Given the description of an element on the screen output the (x, y) to click on. 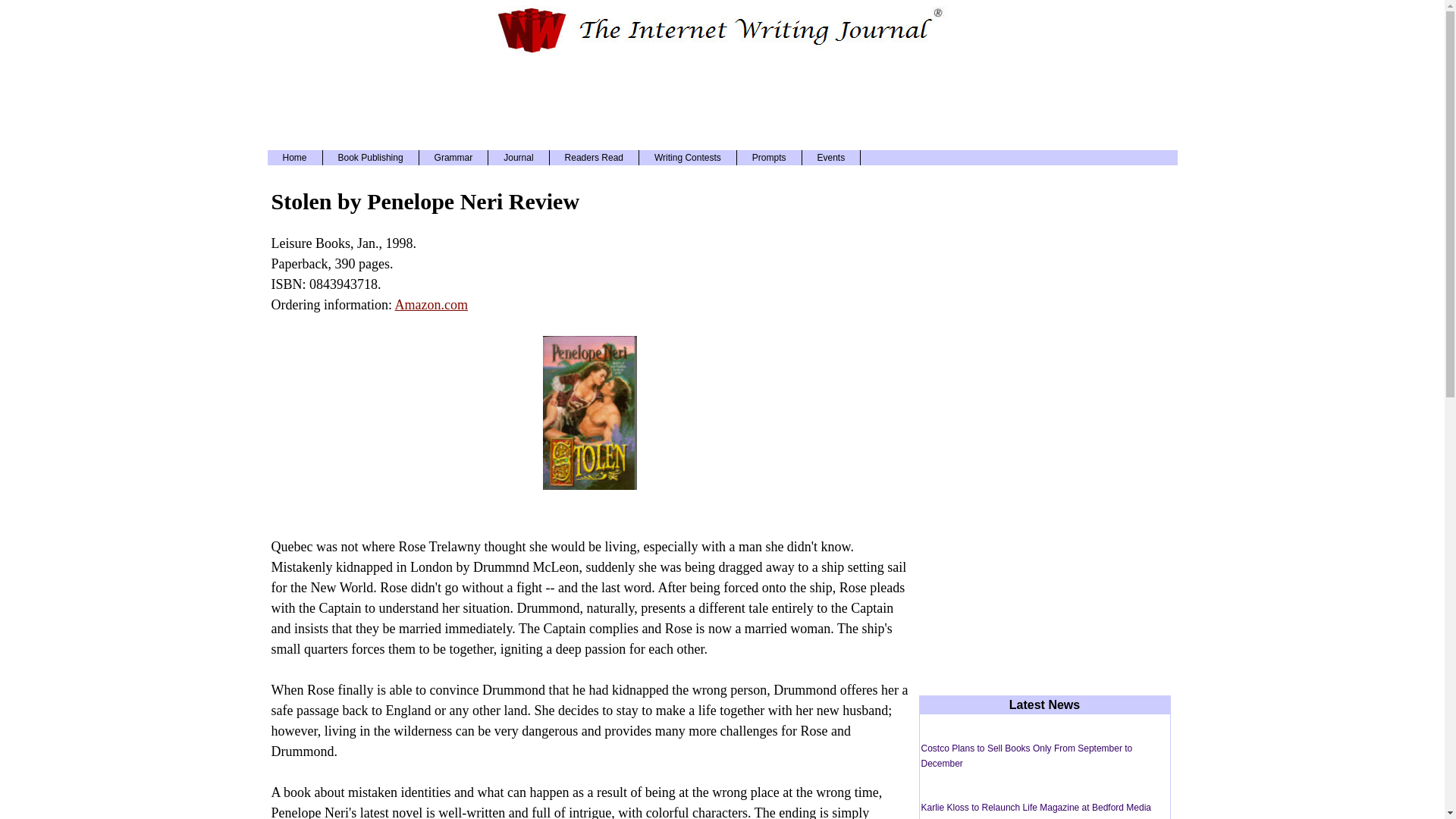
Grammar (454, 157)
Amazon.com (430, 304)
Prompts (769, 157)
Book Publishing (371, 157)
Journal (517, 157)
Events (831, 157)
Writing Contests (687, 157)
Karlie Kloss to Relaunch Life Magazine at Bedford Media (1035, 807)
Advertisement (721, 100)
Costco Plans to Sell Books Only From September to December (1026, 755)
